Given the description of an element on the screen output the (x, y) to click on. 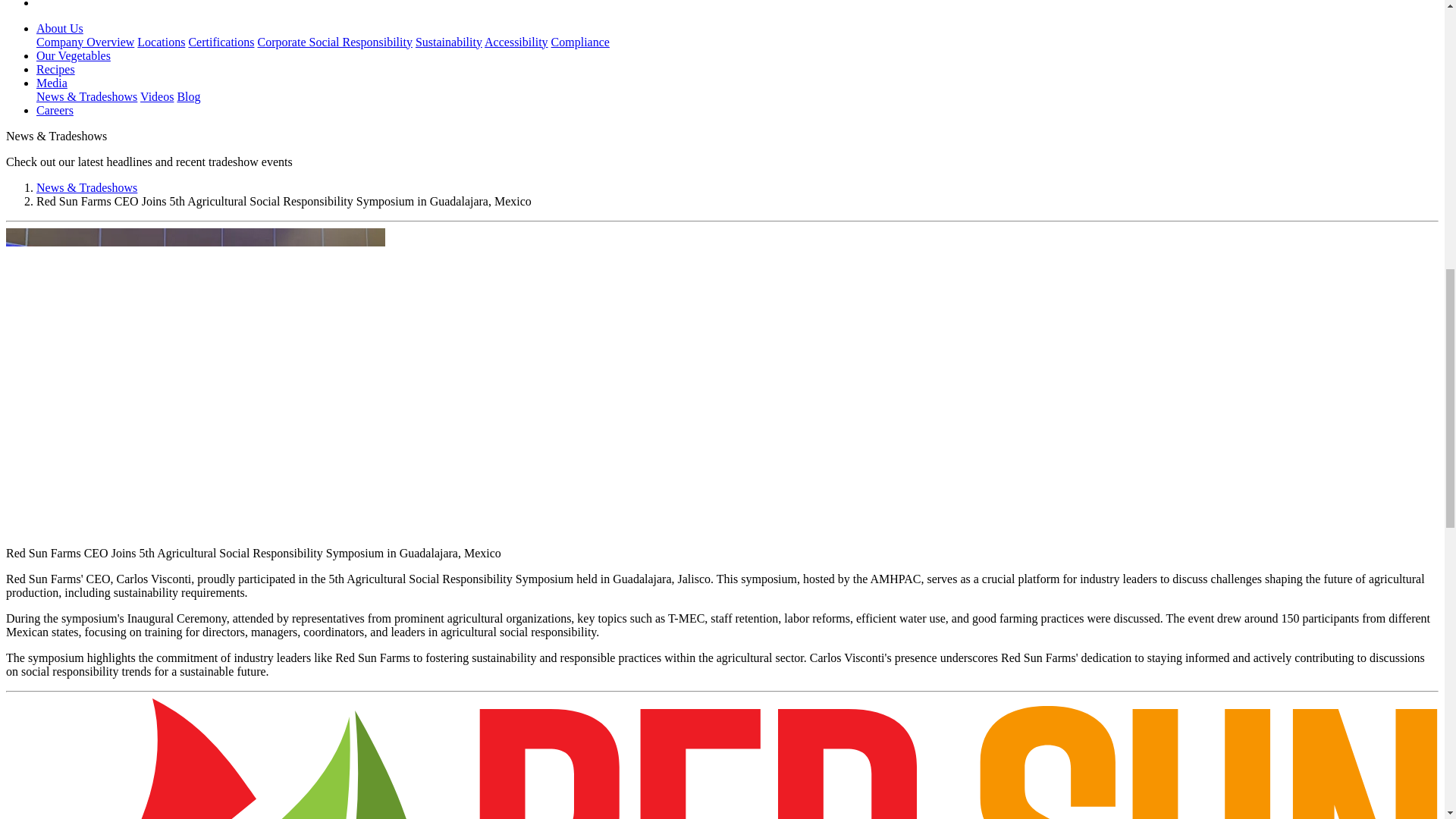
Compliance (580, 42)
Videos (156, 96)
Our Vegetables (73, 55)
Company Overview (84, 42)
Blog (188, 96)
Media (51, 82)
Corporate Social Responsibility (334, 42)
About Us (59, 28)
Accessibility (516, 42)
Sustainability (447, 42)
Locations (160, 42)
Certifications (220, 42)
Recipes (55, 69)
Careers (55, 110)
